Given the description of an element on the screen output the (x, y) to click on. 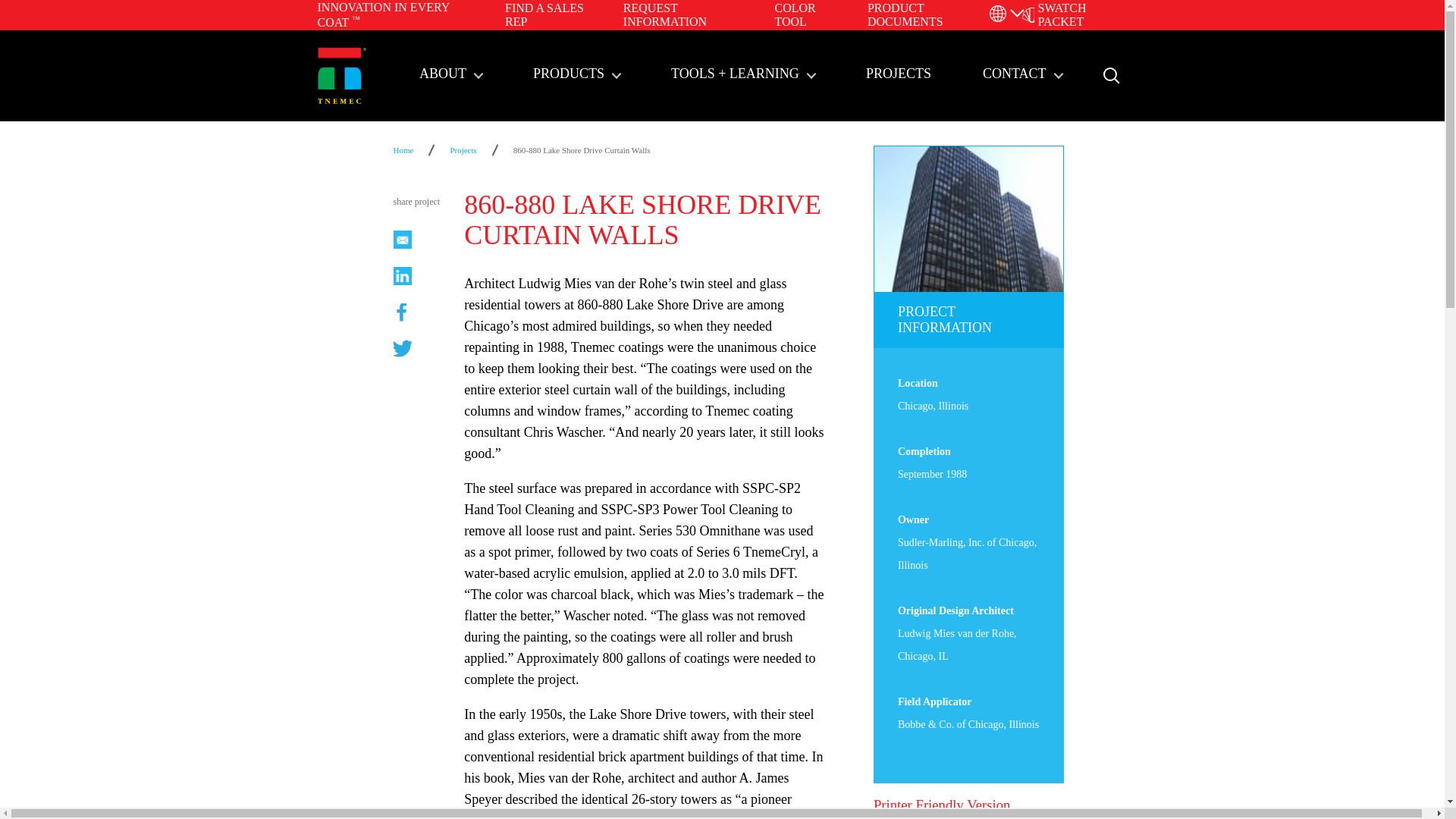
COLOR TOOL (794, 14)
FIND A SALES REP (544, 14)
PRODUCTS (576, 75)
REQUEST INFORMATION (664, 14)
PRODUCT DOCUMENTS (905, 14)
